Given the description of an element on the screen output the (x, y) to click on. 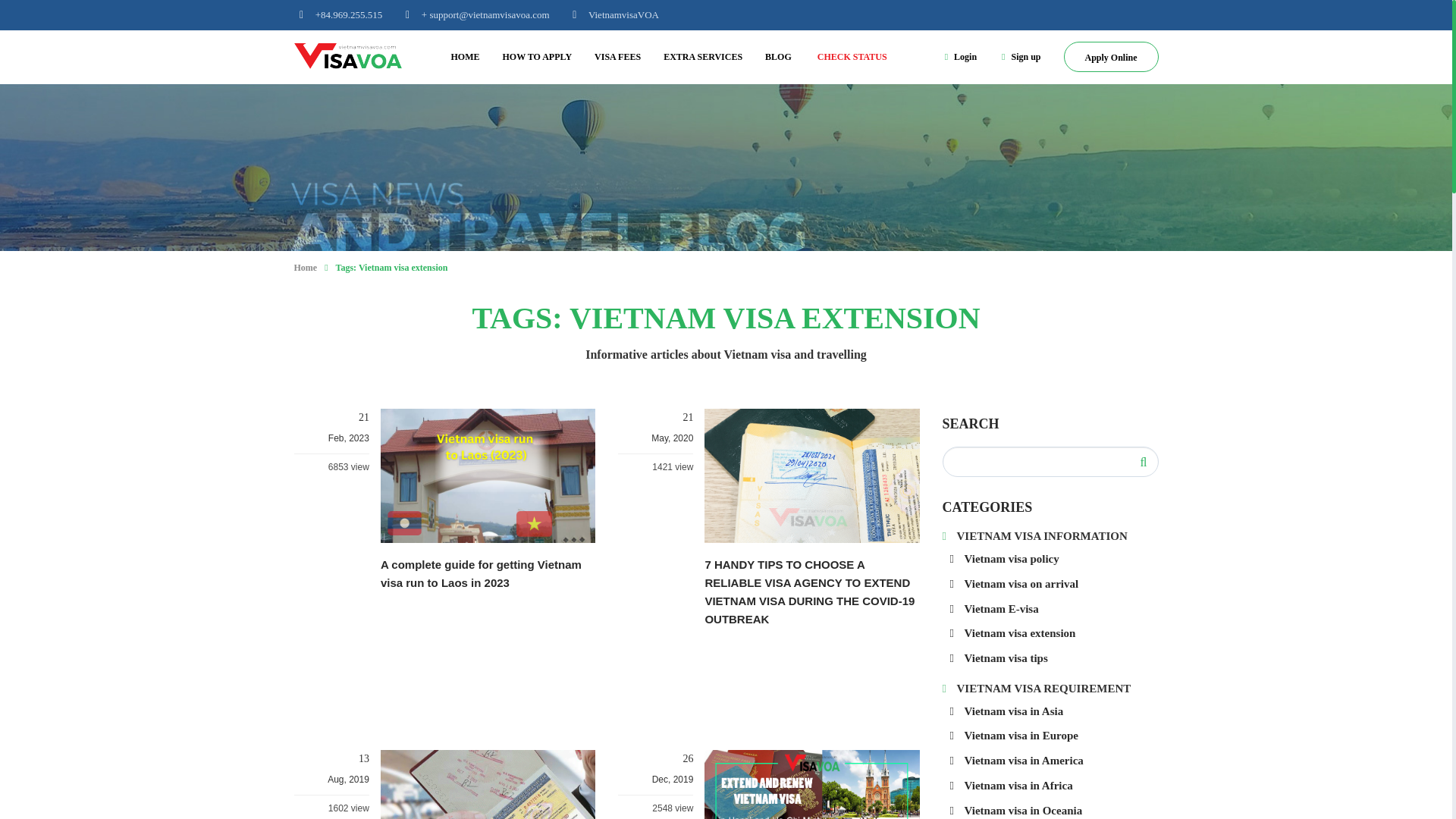
VietnamvisaVOA (613, 14)
Home (305, 267)
Sign up (1021, 56)
Home (465, 56)
Extra Services (703, 56)
HOW TO APPLY (537, 56)
BLOG (778, 56)
Blog (778, 56)
CHECK STATUS (852, 56)
EXTRA SERVICES (703, 56)
How to apply  (537, 56)
HOME (465, 56)
Tags: Vietnam visa extension (392, 267)
VISA FEES (617, 56)
